Given the description of an element on the screen output the (x, y) to click on. 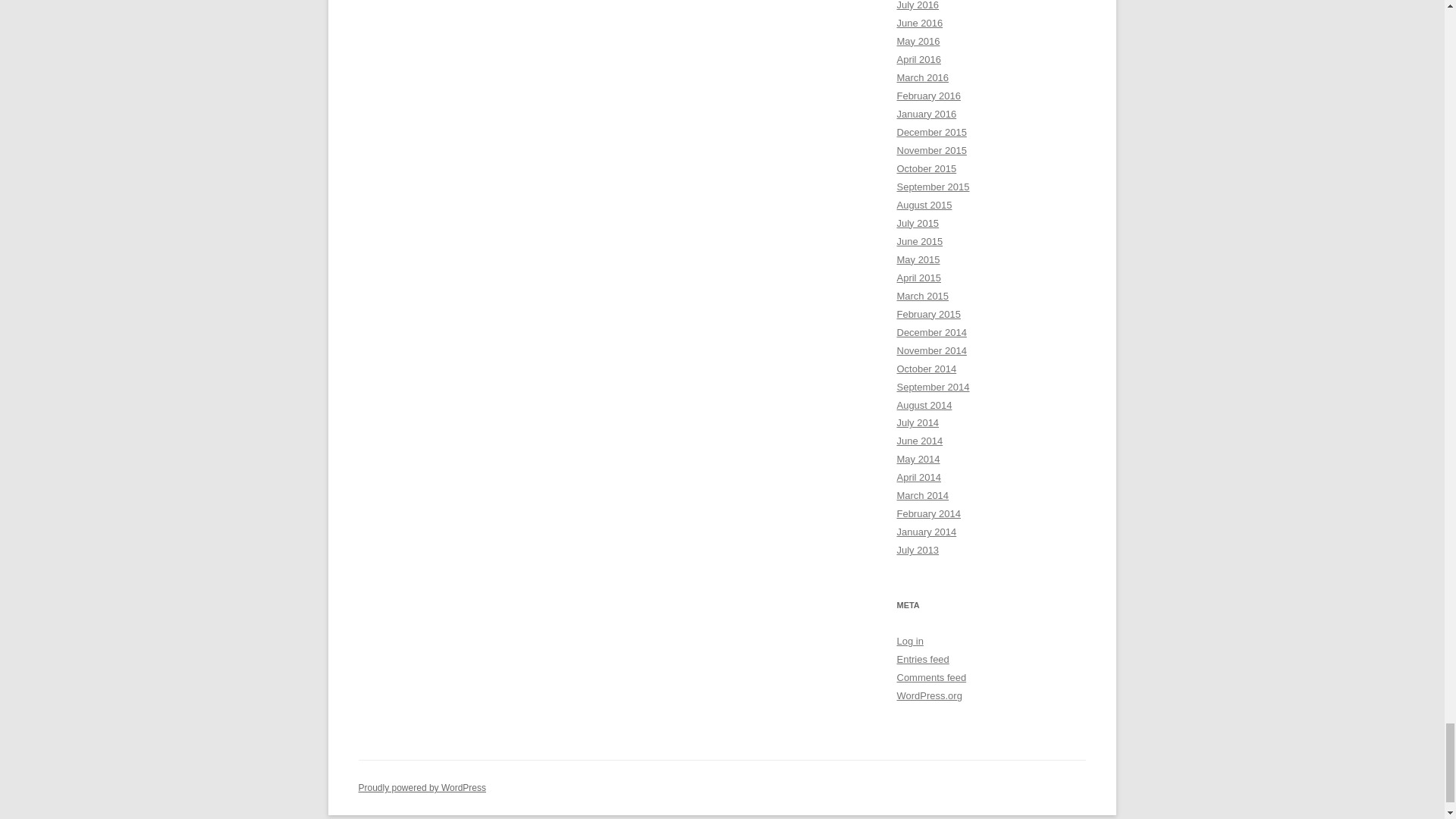
Semantic Personal Publishing Platform (422, 787)
